Given the description of an element on the screen output the (x, y) to click on. 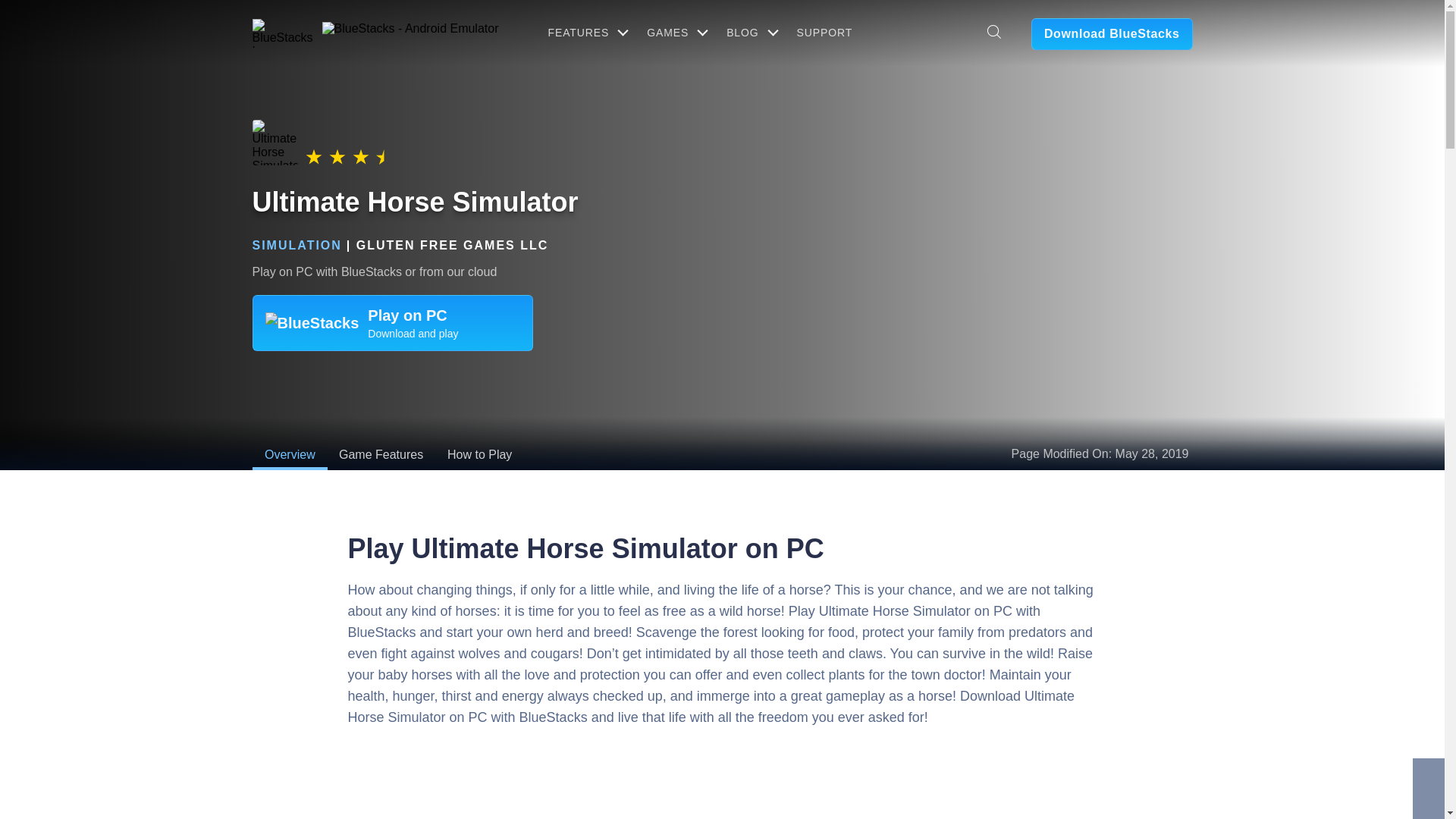
FEATURES (585, 32)
